Given the description of an element on the screen output the (x, y) to click on. 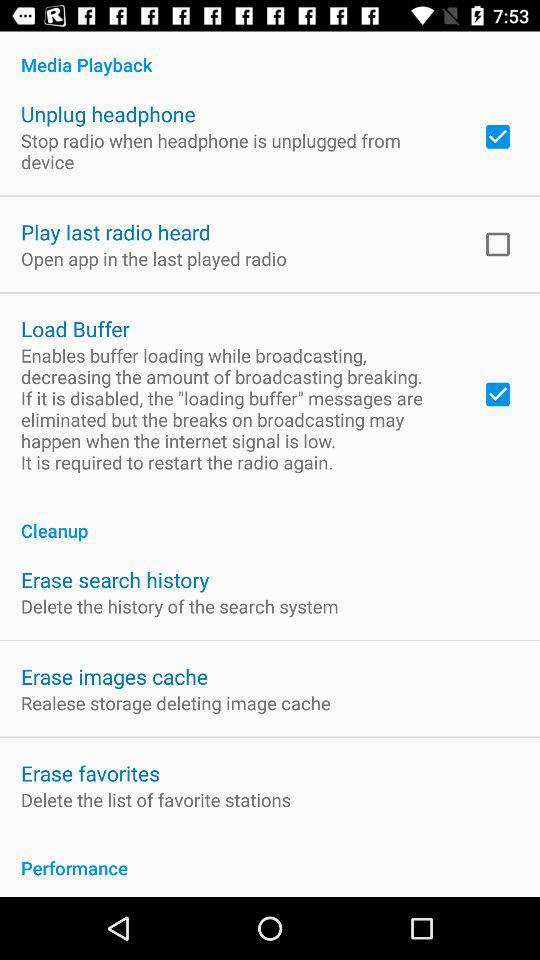
launch the realese storage deleting item (175, 702)
